Given the description of an element on the screen output the (x, y) to click on. 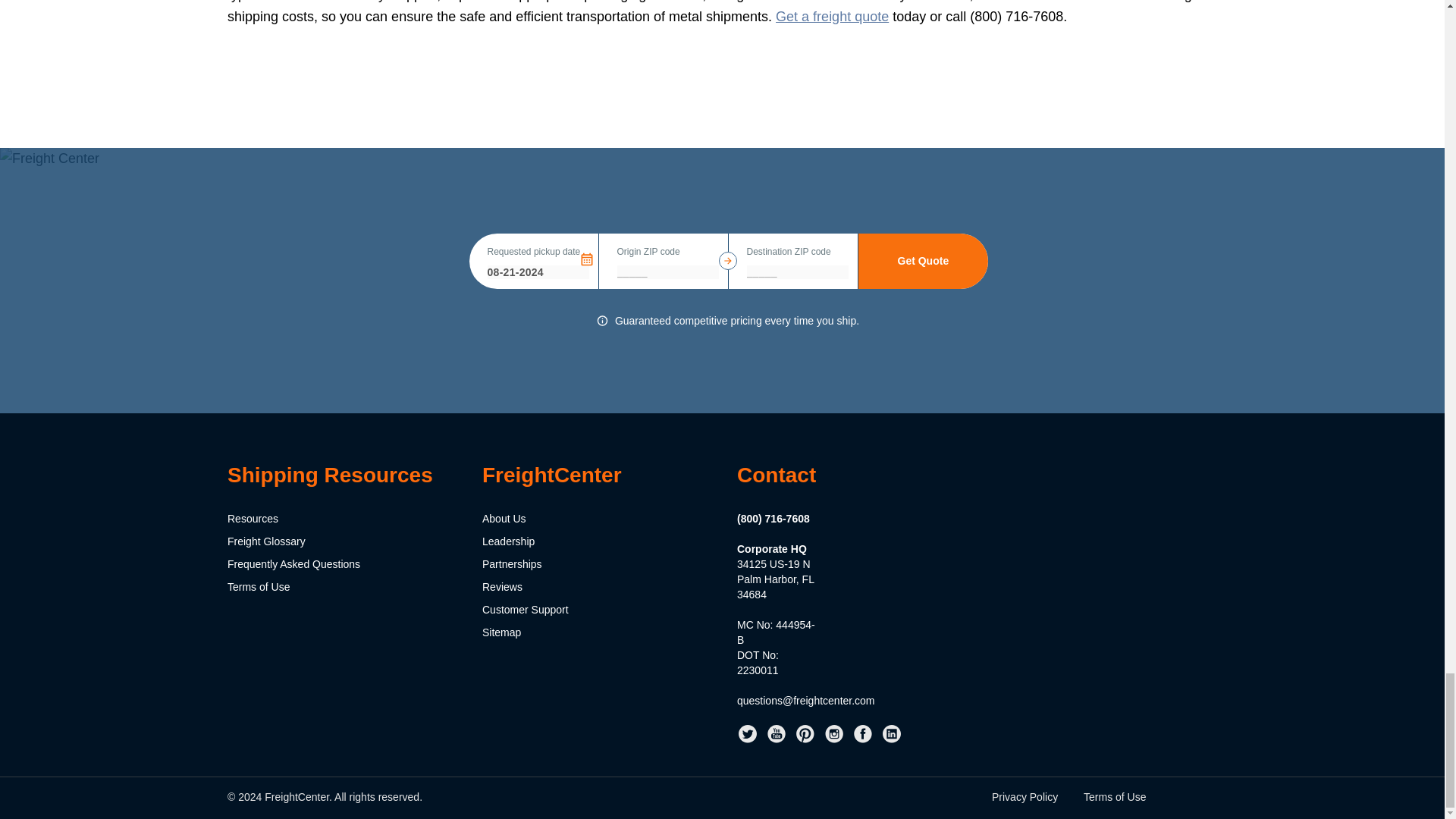
About Us (503, 518)
Terms of Use (258, 586)
Leadership (507, 541)
Frequently Asked Questions (293, 563)
Freight Glossary (266, 541)
Get a freight quote (832, 16)
Customer Support (525, 609)
Get Quote (923, 261)
Sitemap (501, 632)
Resources (252, 518)
